Given the description of an element on the screen output the (x, y) to click on. 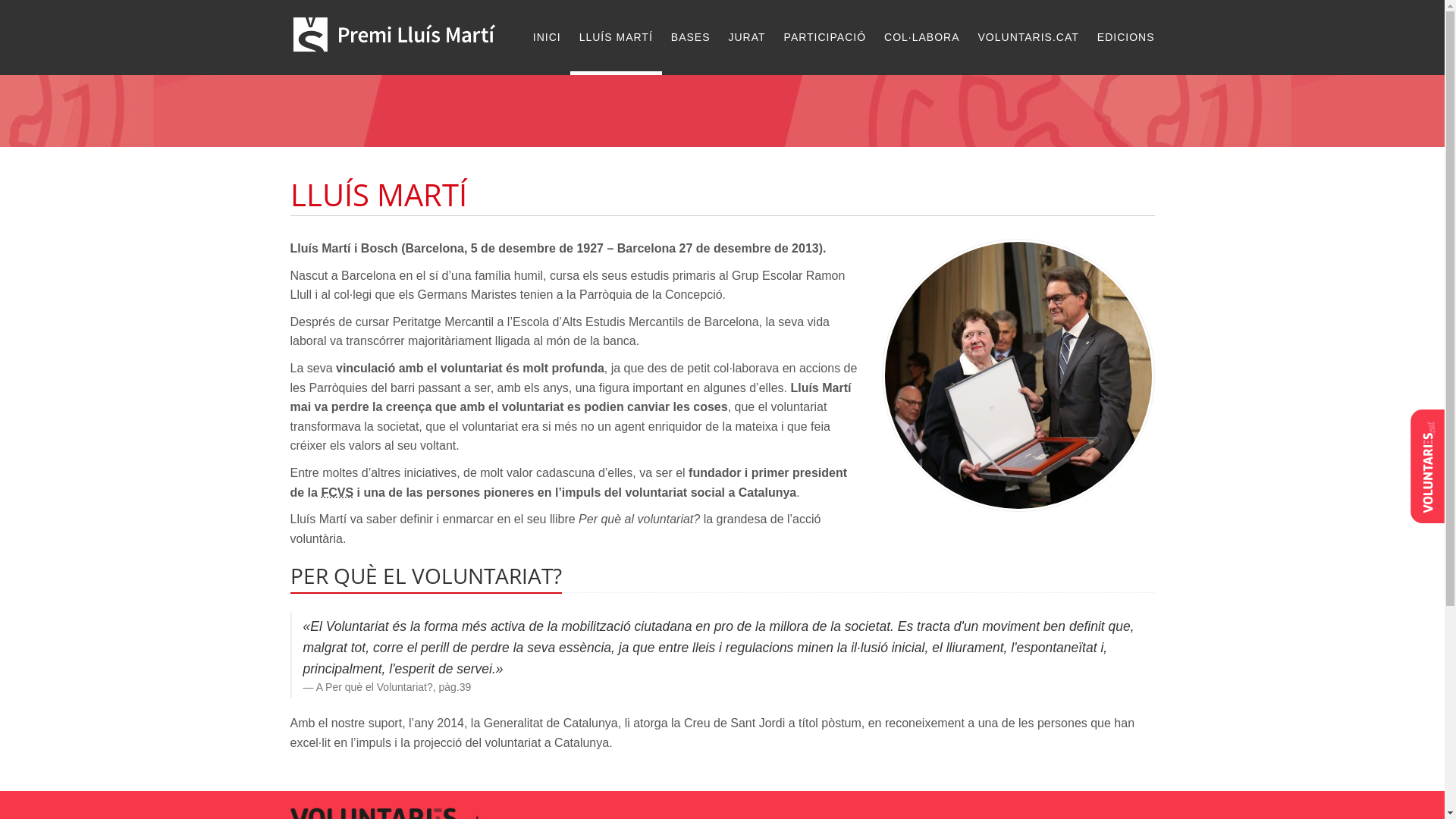
VOLUNTARIS.CAT Element type: text (1028, 35)
JURAT Element type: text (746, 35)
INICI Element type: text (547, 35)
EDICIONS Element type: text (1121, 35)
BASES Element type: text (690, 35)
